Given the description of an element on the screen output the (x, y) to click on. 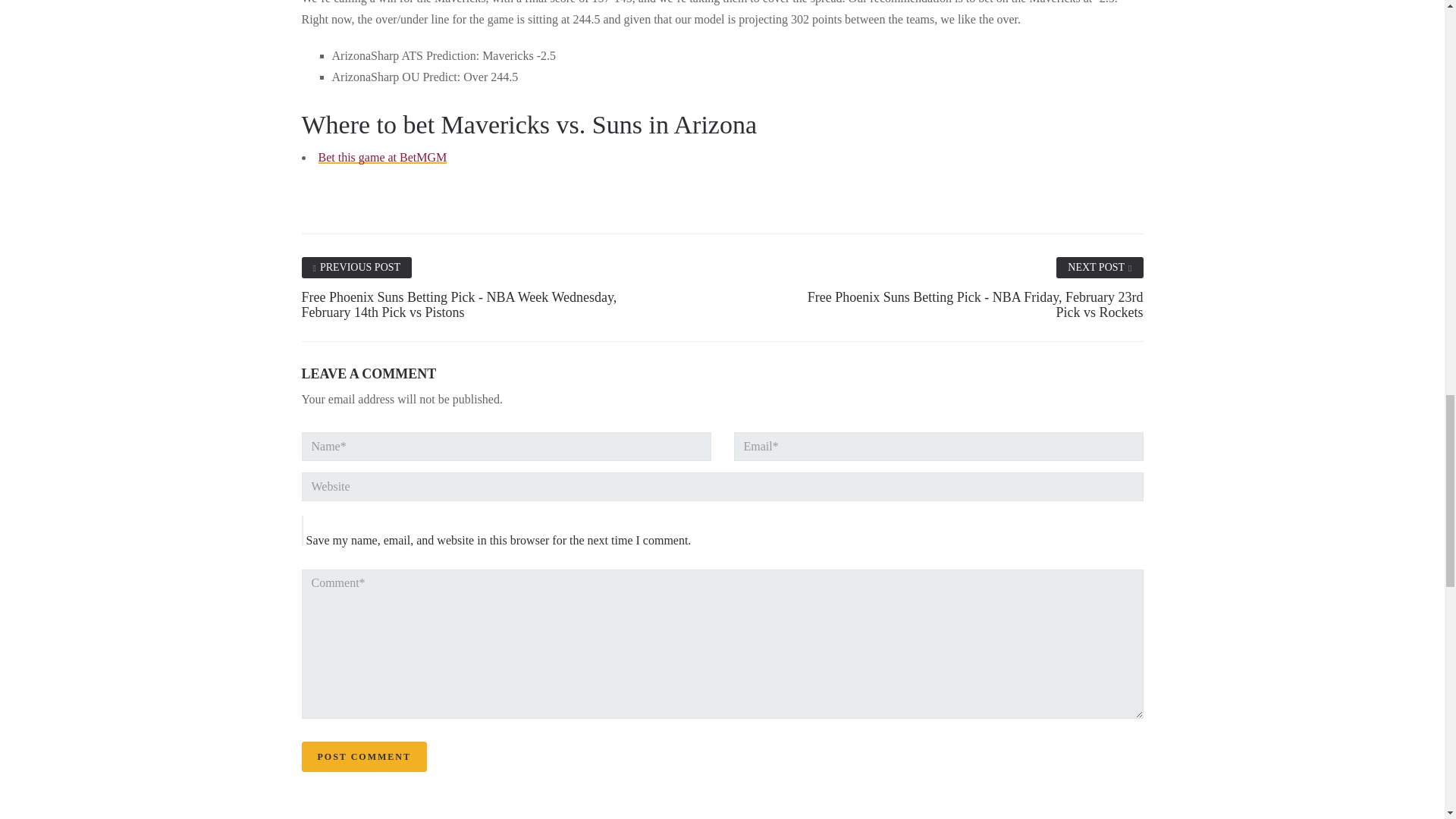
Post Comment (363, 757)
Post Comment (363, 757)
Bet this game at BetMGM (382, 156)
